Given the description of an element on the screen output the (x, y) to click on. 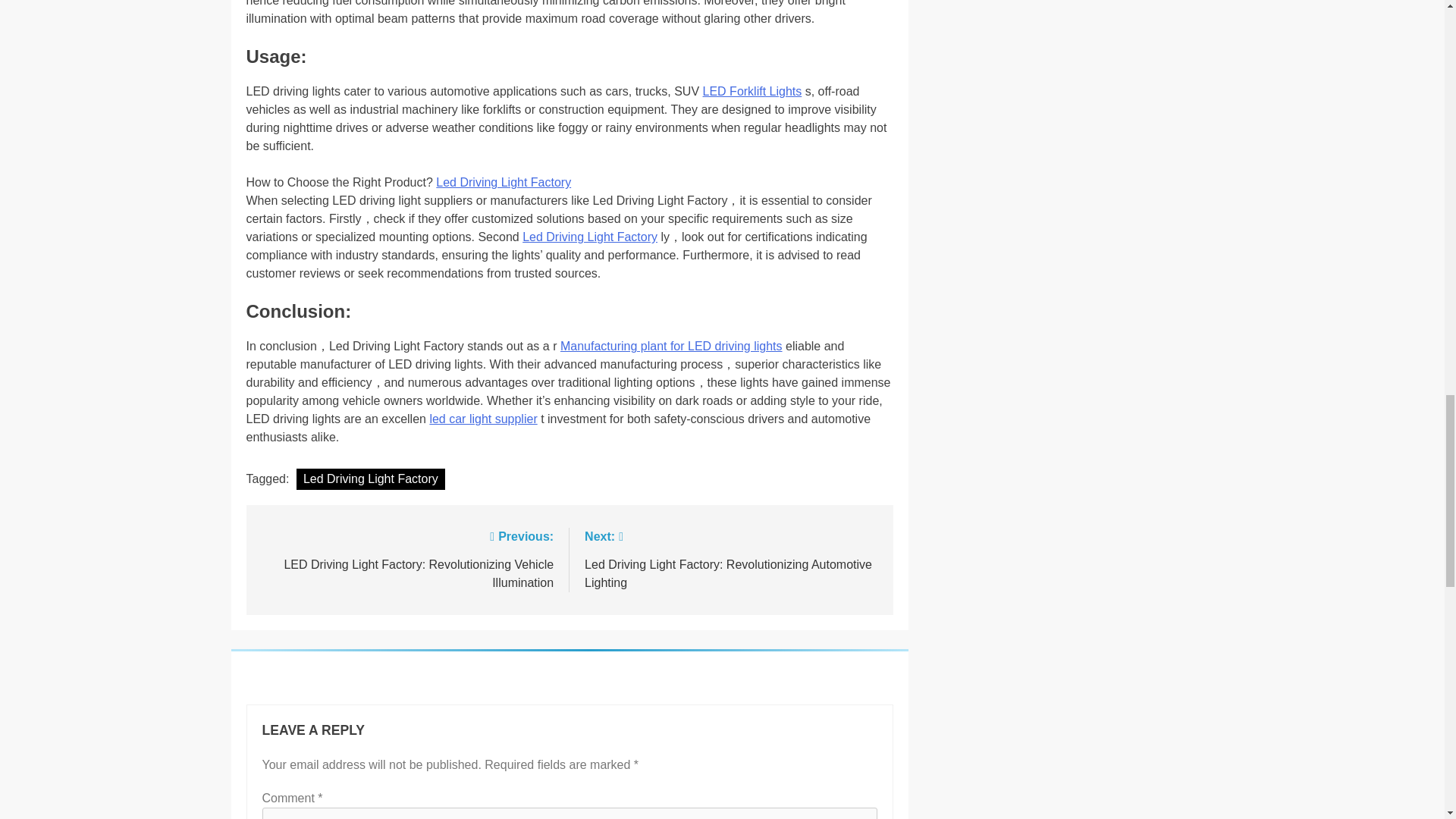
LED Forklift Lights (752, 91)
Led Driving Light Factory (371, 478)
Manufacturing plant for LED driving lights (671, 345)
led car light supplier (483, 418)
Led Driving Light Factory (590, 236)
Led Driving Light Factory (502, 182)
